Given the description of an element on the screen output the (x, y) to click on. 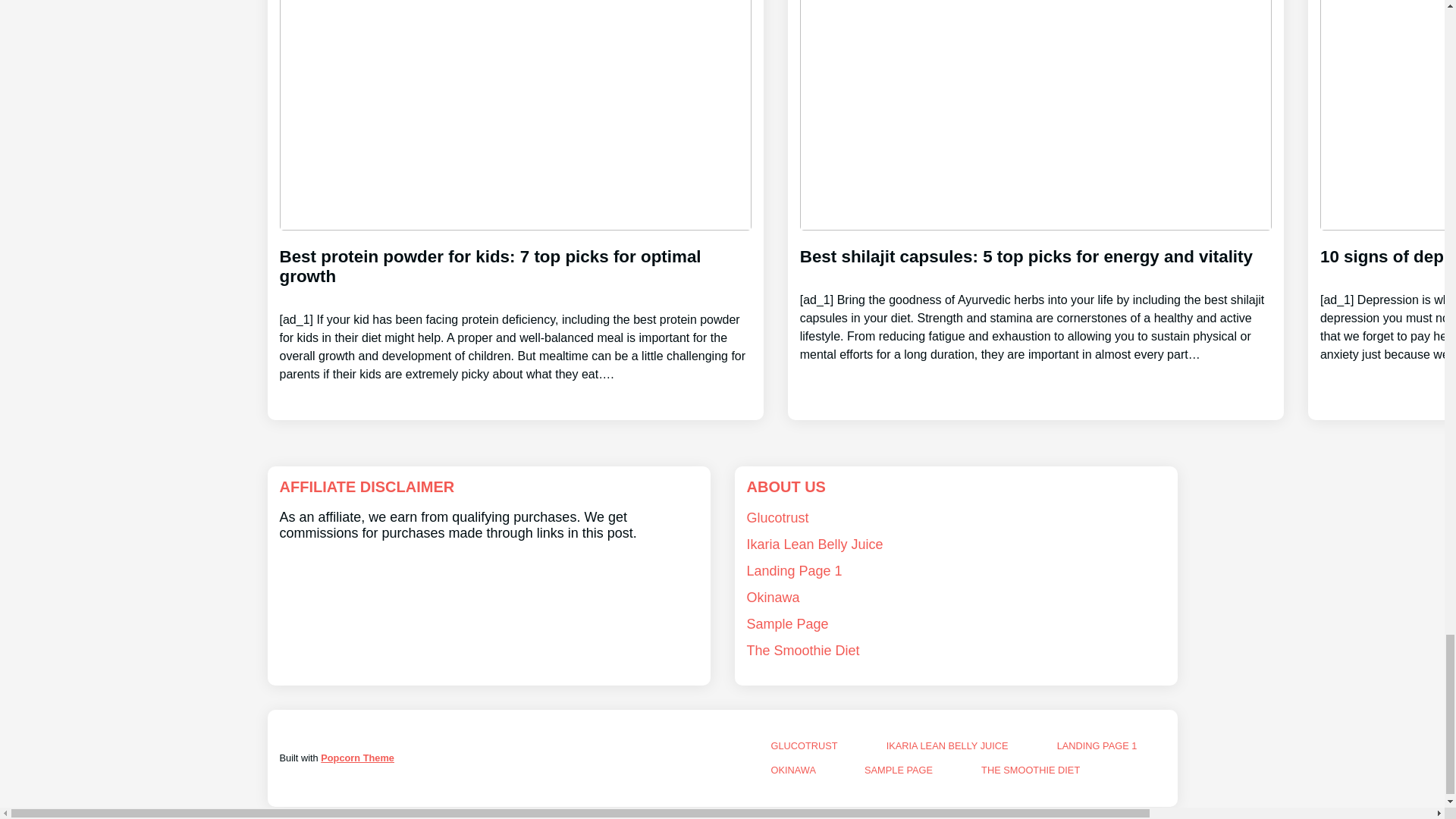
Best protein powder for kids: 7 top picks for optimal growth (515, 302)
Popcorn Theme (357, 757)
The Smoothie Diet (802, 650)
Okinawa (772, 597)
Ikaria Lean Belly Juice (813, 544)
Best shilajit capsules: 5 top picks for energy and vitality (1035, 292)
LANDING PAGE 1 (1097, 745)
Glucotrust (776, 517)
10 signs of depression to look out for (1388, 292)
GLUCOTRUST (803, 745)
